Given the description of an element on the screen output the (x, y) to click on. 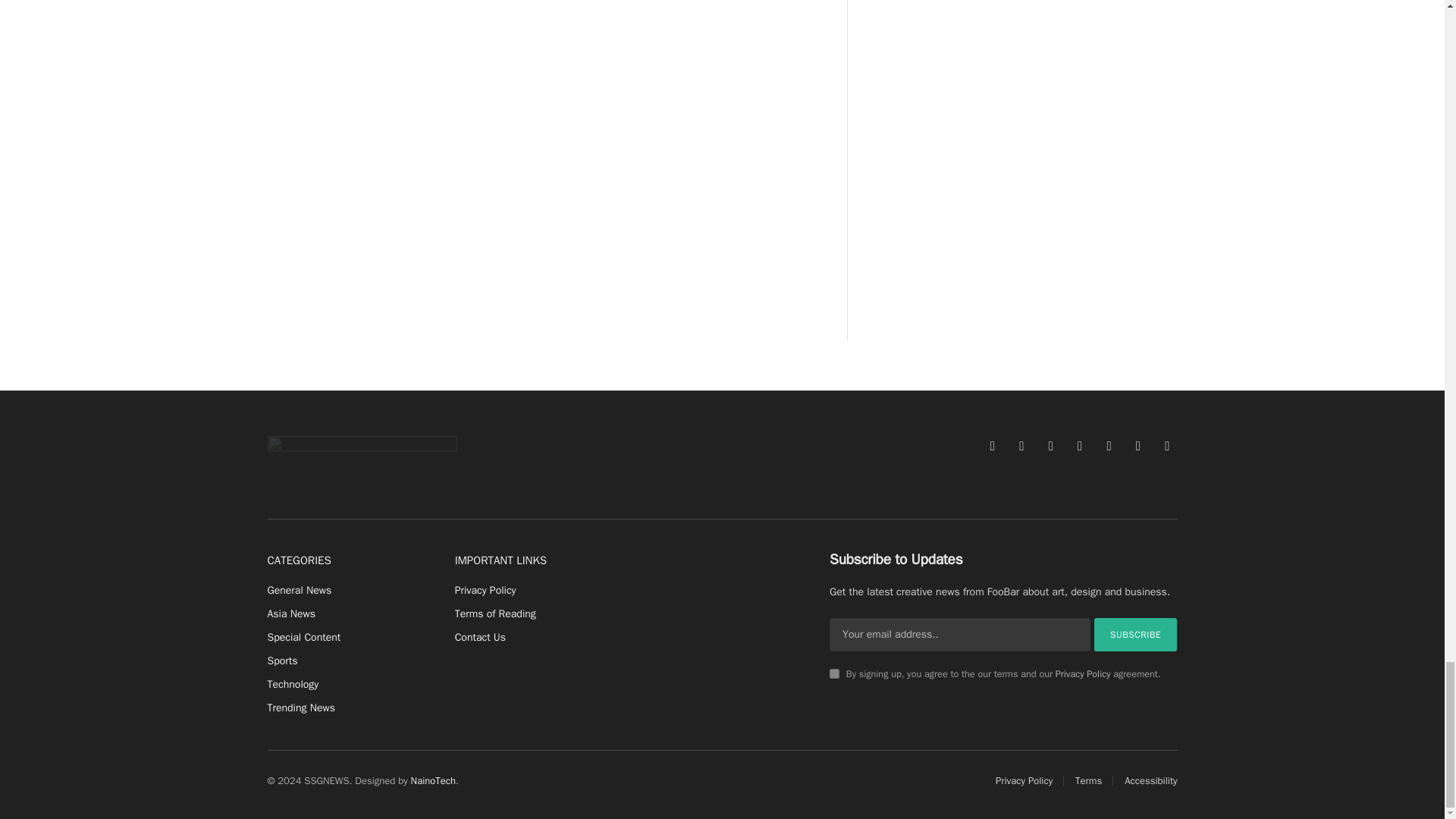
on (834, 673)
Subscribe (1135, 634)
